Given the description of an element on the screen output the (x, y) to click on. 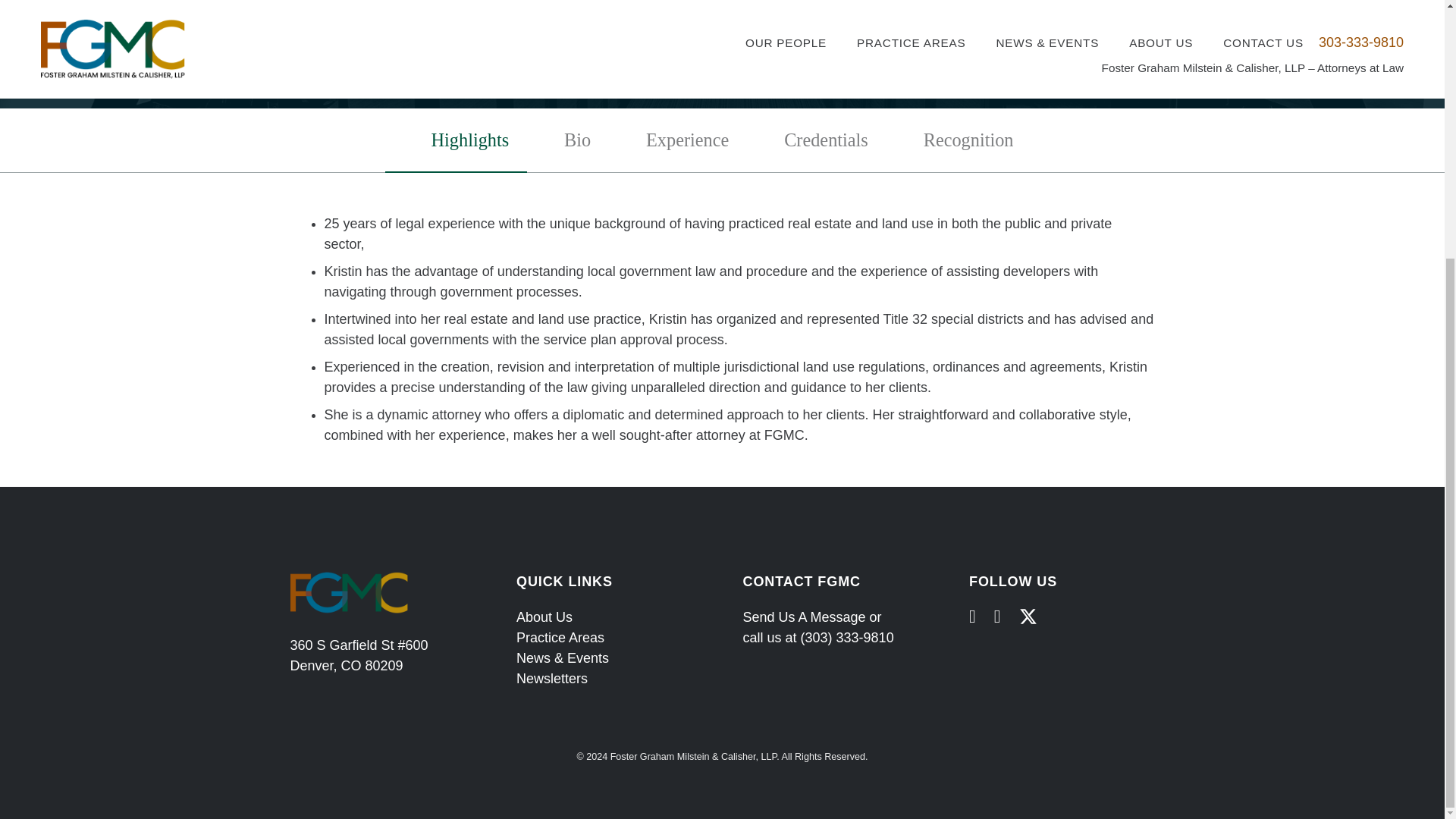
About Us (544, 616)
Recognition (968, 140)
Credentials (826, 140)
Twitter (1027, 617)
Bio (577, 140)
Practice Areas (560, 637)
Highlights (469, 140)
Newsletters (552, 678)
Experience (687, 140)
